Given the description of an element on the screen output the (x, y) to click on. 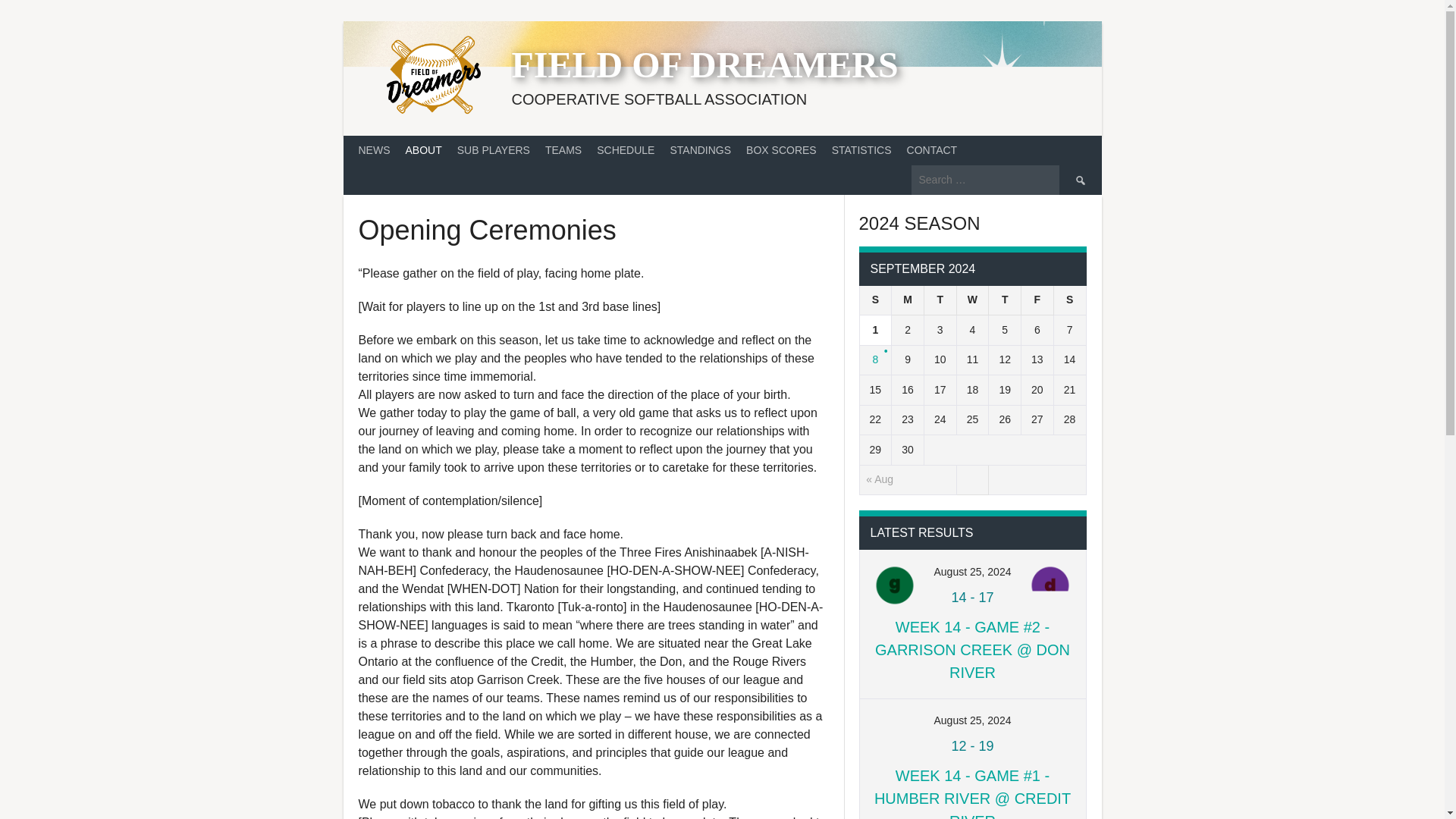
Friday (1038, 300)
TEAMS (563, 150)
SUB PLAYERS (493, 150)
Monday (907, 300)
STANDINGS (700, 150)
Credit River (1050, 733)
Thursday (1005, 300)
Don River (1050, 585)
NEWS (373, 150)
Tuesday (939, 300)
